Given the description of an element on the screen output the (x, y) to click on. 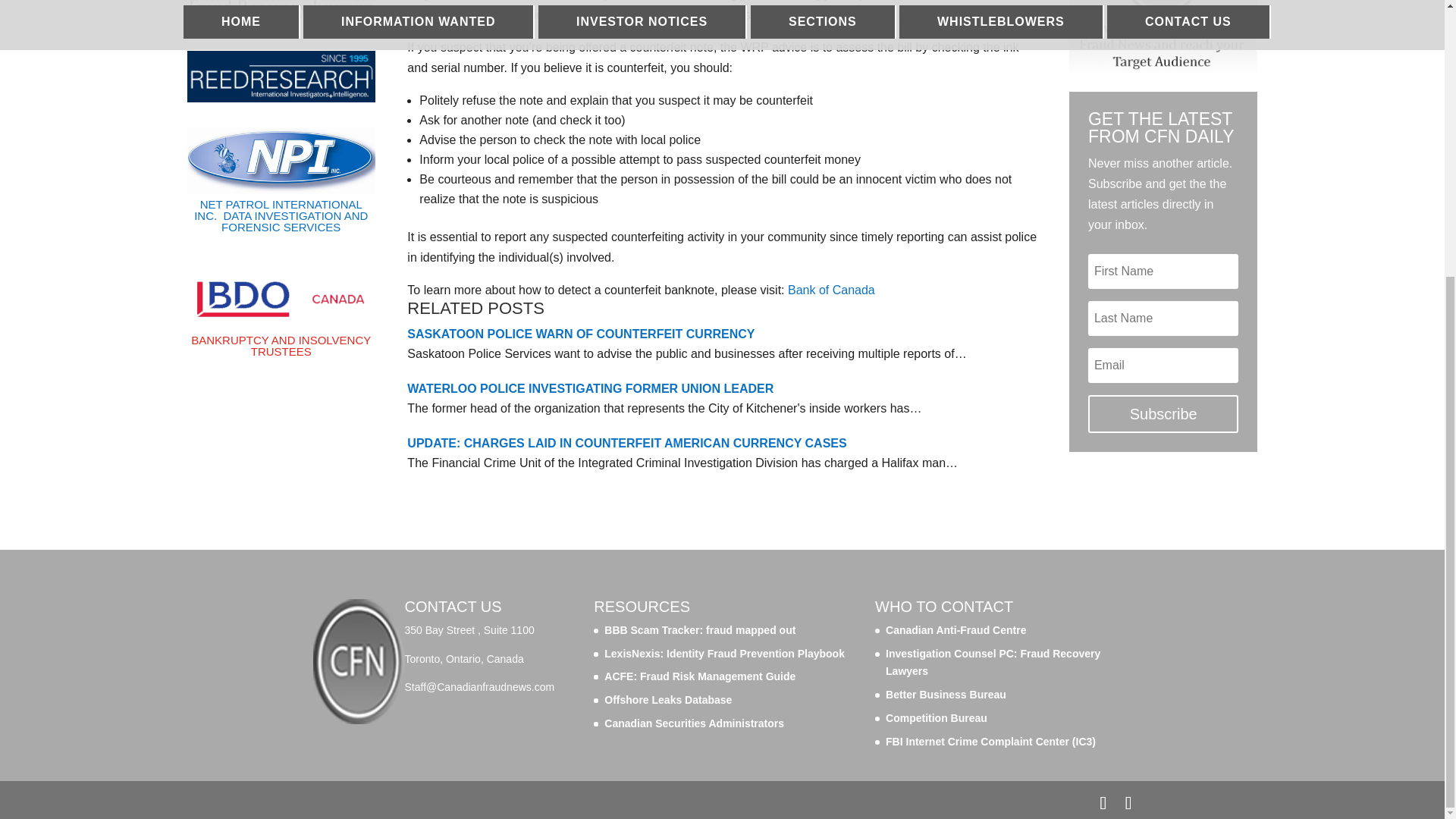
reed (280, 76)
Tom (280, 157)
FRL (280, 9)
bdo (280, 299)
CFNINLINE (1162, 37)
